Given the description of an element on the screen output the (x, y) to click on. 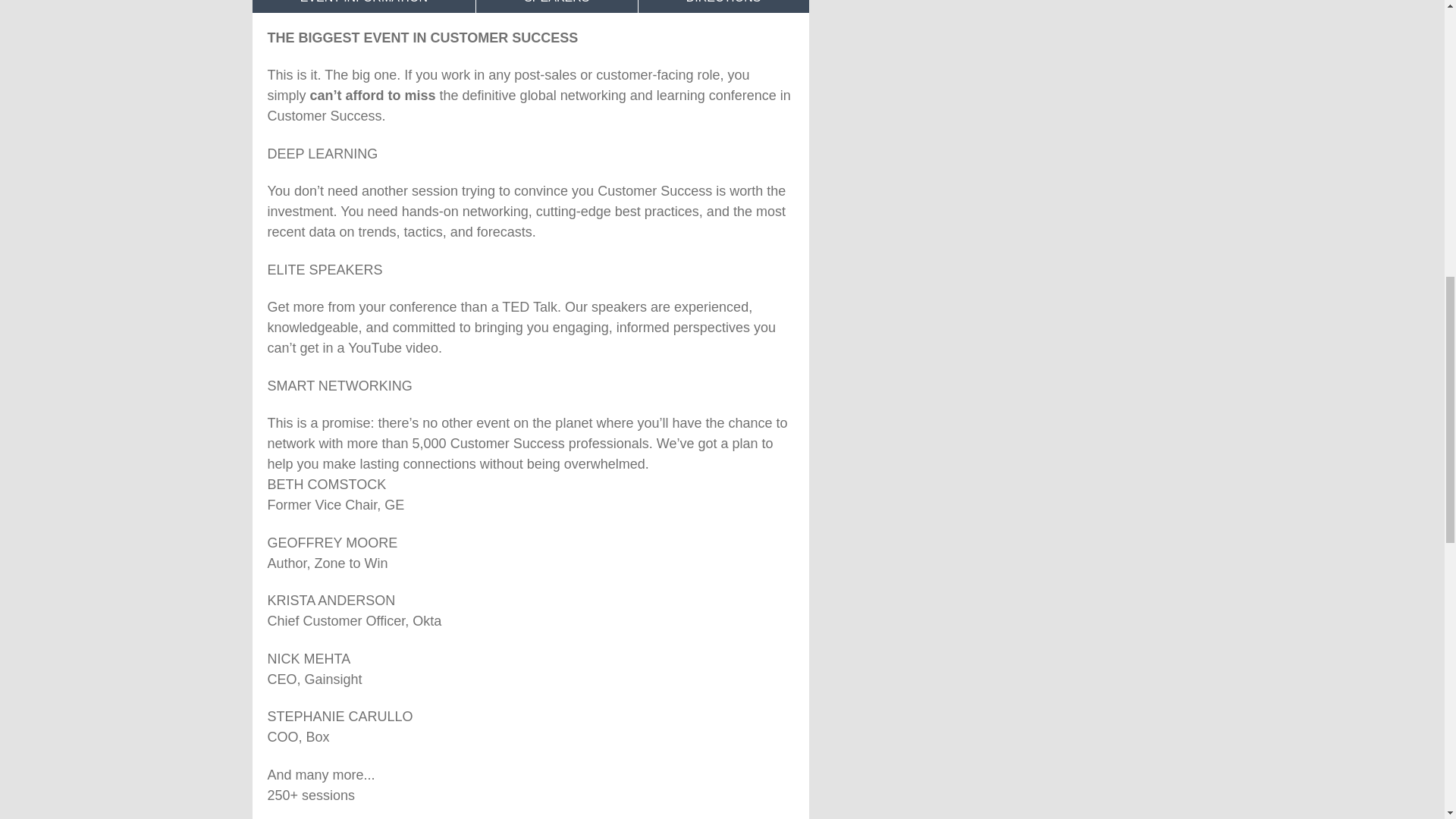
EVENT INFORMATION (363, 6)
SPEAKERS (556, 6)
DIRECTIONS (724, 6)
